Given the description of an element on the screen output the (x, y) to click on. 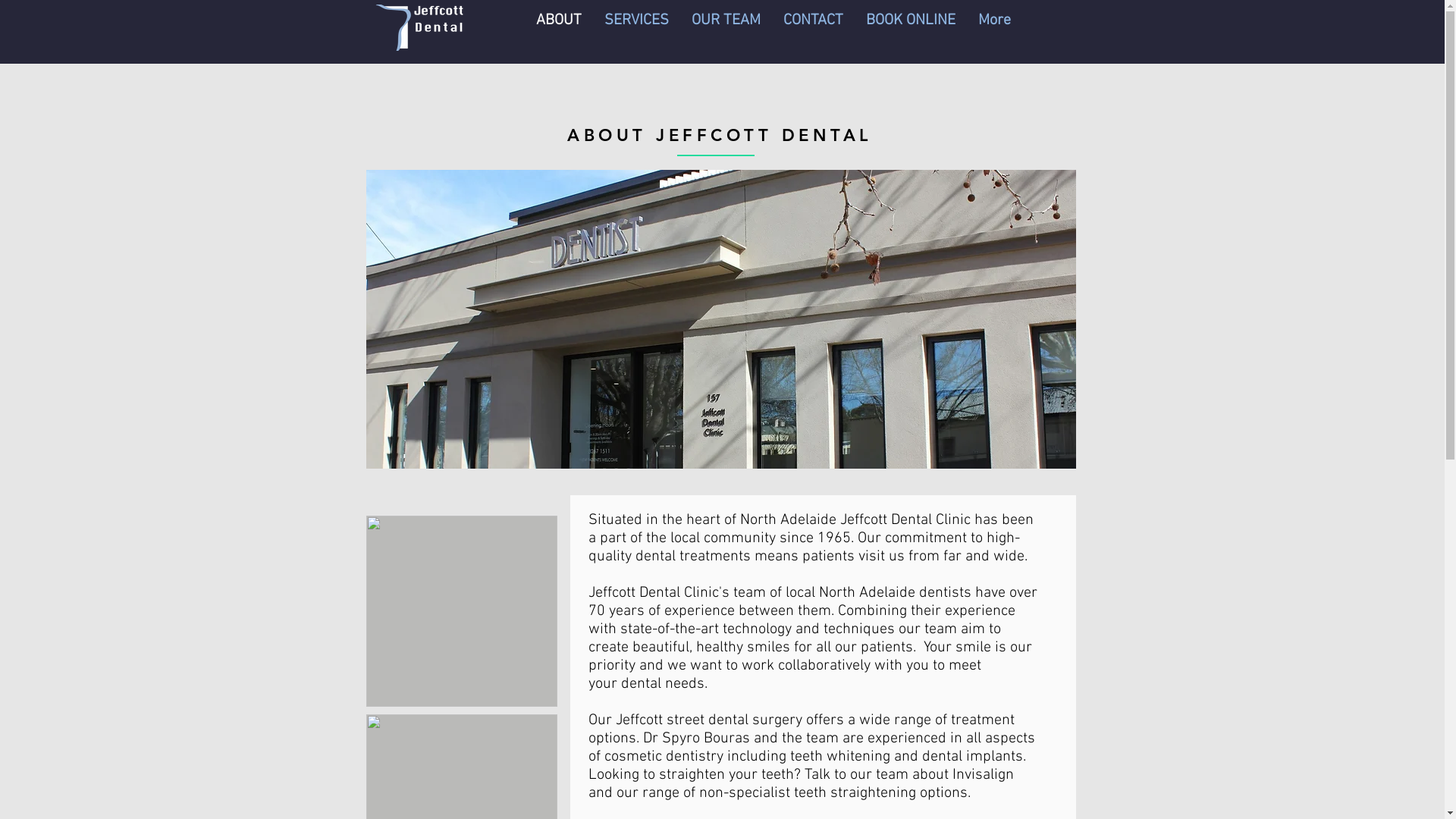
OUR TEAM Element type: text (725, 27)
BOOK ONLINE Element type: text (909, 27)
SERVICES Element type: text (636, 27)
CONTACT Element type: text (812, 27)
ABOUT Element type: text (558, 27)
jeffcottdental_logoWhite.png Element type: hover (418, 27)
